Given the description of an element on the screen output the (x, y) to click on. 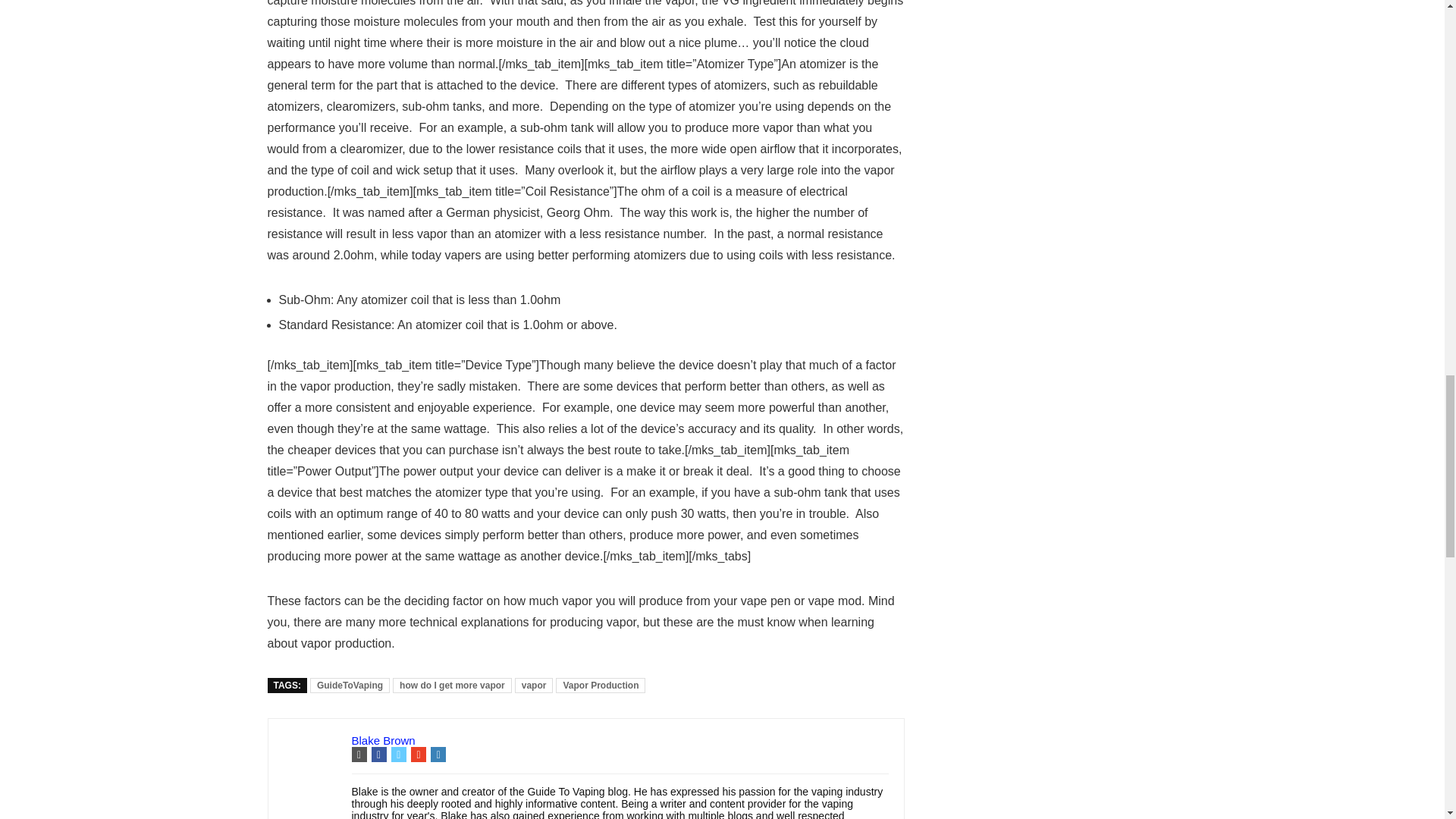
Vapor Production (600, 685)
GuideToVaping (350, 685)
Blake Brown (383, 739)
how do I get more vapor (452, 685)
vapor (534, 685)
